Given the description of an element on the screen output the (x, y) to click on. 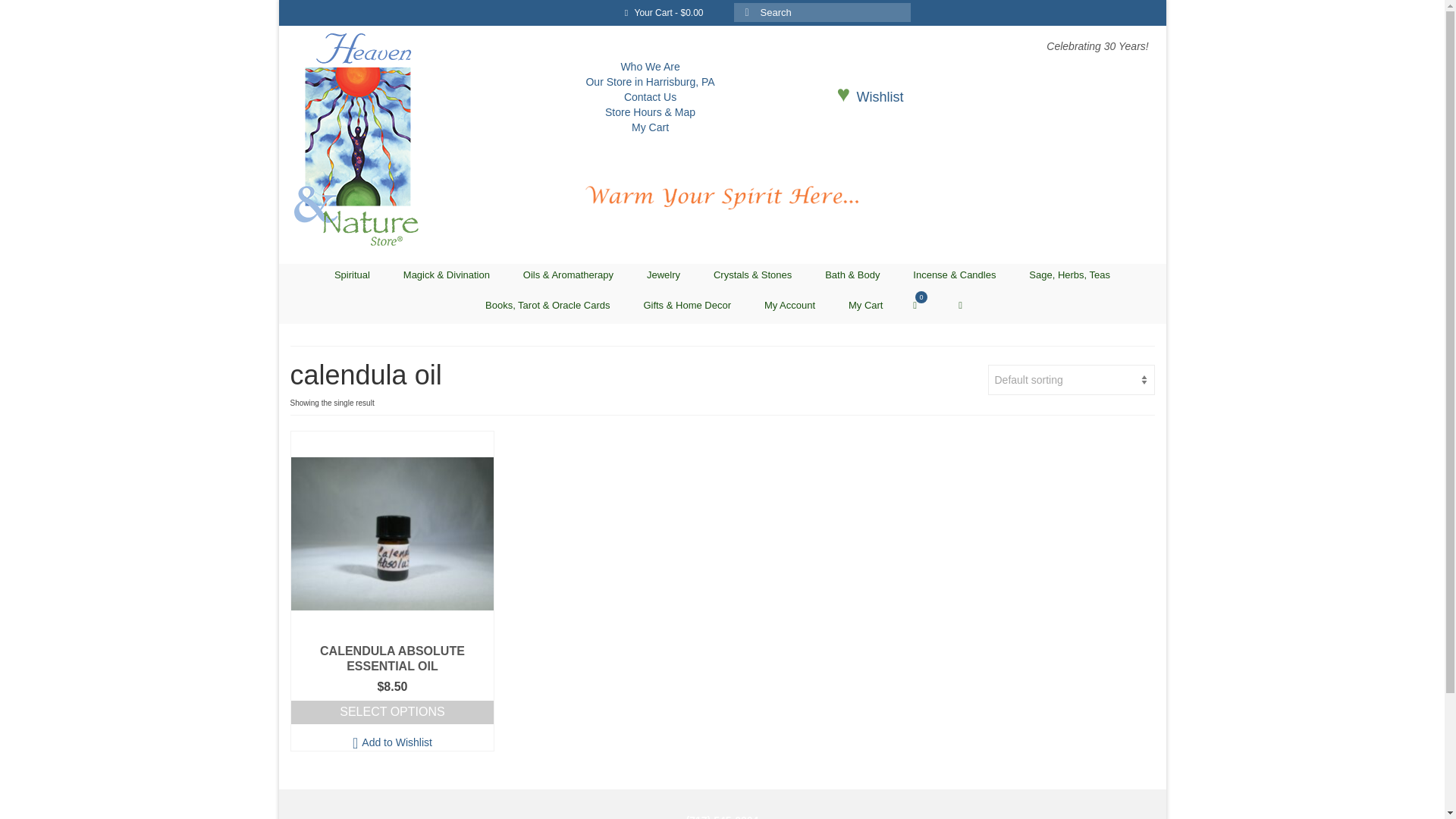
Who We Are (649, 66)
View your shopping cart (664, 12)
Your Cart (922, 304)
Spiritual (351, 274)
Our Store in Harrisburg, PA (649, 81)
My Cart (649, 127)
Wishlist (880, 97)
Contact Us (650, 96)
Search (960, 304)
